Given the description of an element on the screen output the (x, y) to click on. 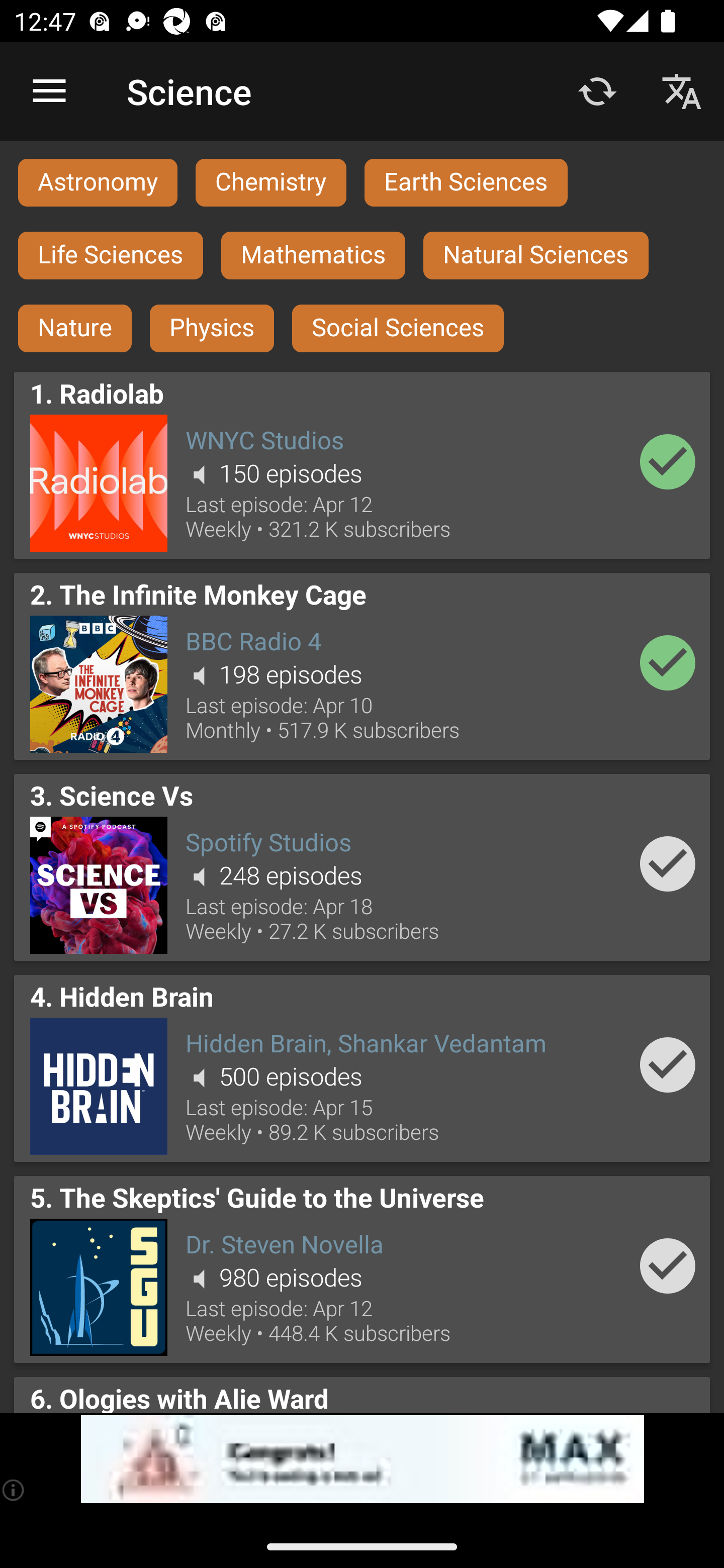
Open navigation sidebar (49, 91)
Update top podcasts list (597, 90)
Podcast languages (681, 90)
Astronomy (97, 182)
Chemistry (270, 182)
Earth Sciences (465, 182)
Life Sciences (110, 255)
Mathematics (313, 255)
Natural Sciences (535, 255)
Nature (74, 328)
Physics (211, 328)
Social Sciences (397, 328)
Add (667, 461)
Add (667, 662)
Add (667, 863)
Add (667, 1064)
Add (667, 1265)
app-monetization (362, 1459)
(i) (14, 1489)
